Given the description of an element on the screen output the (x, y) to click on. 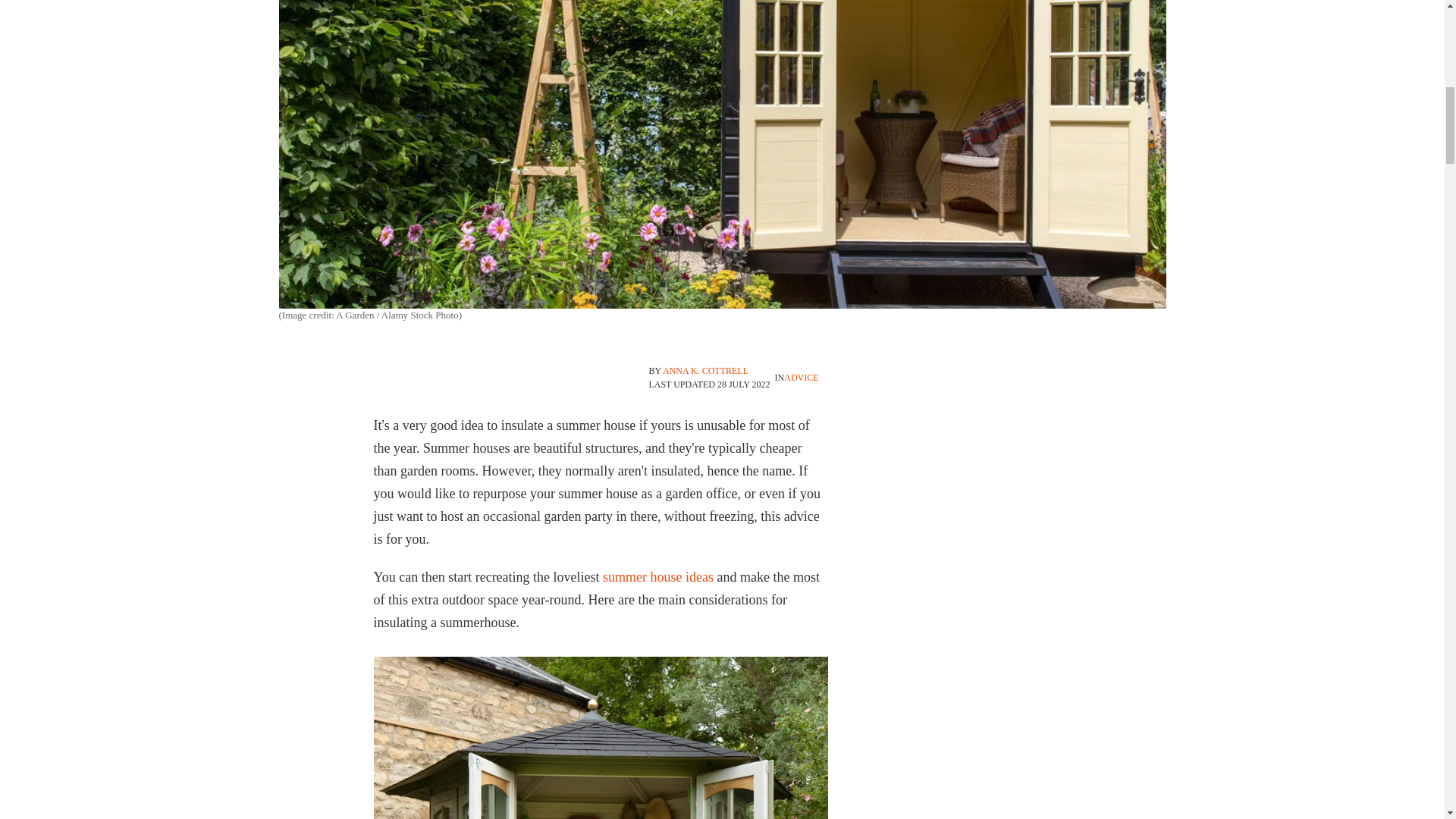
summer house ideas (657, 576)
ANNA K. COTTRELL (705, 370)
ADVICE (801, 377)
